Given the description of an element on the screen output the (x, y) to click on. 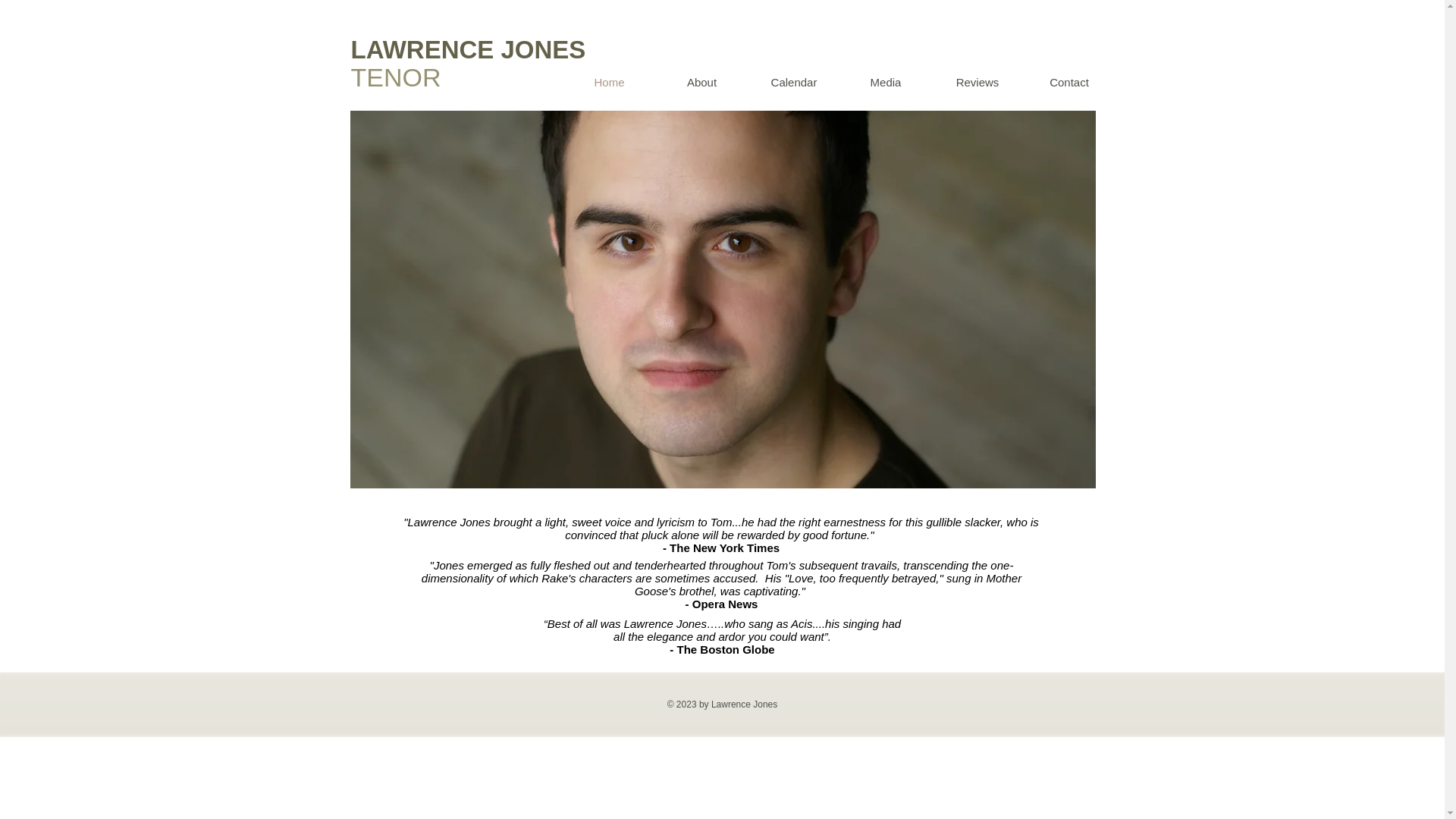
Reviews (977, 82)
Contact (1069, 82)
About (701, 82)
Home (608, 82)
LAWRENCE JONES (467, 49)
Media (885, 82)
